Given the description of an element on the screen output the (x, y) to click on. 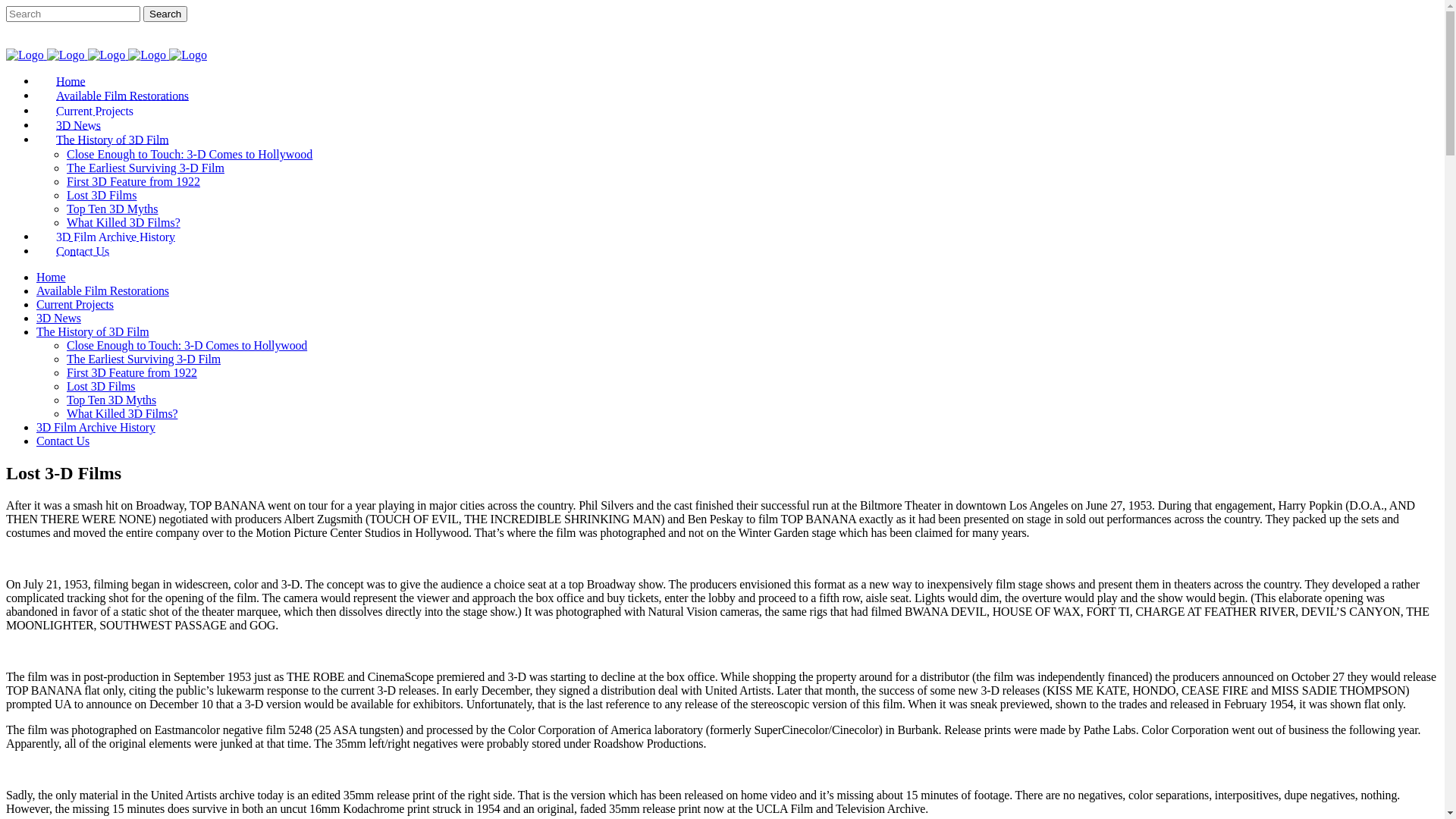
Current Projects Element type: text (94, 109)
Top Ten 3D Myths Element type: text (112, 208)
The Earliest Surviving 3-D Film Element type: text (145, 167)
Home Element type: text (70, 80)
The Earliest Surviving 3-D Film Element type: text (143, 358)
What Killed 3D Films? Element type: text (123, 222)
First 3D Feature from 1922 Element type: text (133, 181)
3D Film Archive History Element type: text (115, 235)
3D News Element type: text (78, 124)
Home Element type: text (50, 276)
Available Film Restorations Element type: text (102, 290)
Close Enough to Touch: 3-D Comes to Hollywood Element type: text (186, 344)
3D Film Archive History Element type: text (95, 426)
Search Element type: text (165, 13)
What Killed 3D Films? Element type: text (121, 413)
Available Film Restorations Element type: text (122, 94)
Close Enough to Touch: 3-D Comes to Hollywood Element type: text (189, 153)
Contact Us Element type: text (82, 250)
Current Projects Element type: text (74, 304)
Lost 3D Films Element type: text (100, 385)
The History of 3D Film Element type: text (92, 331)
Top Ten 3D Myths Element type: text (111, 399)
Lost 3D Films Element type: text (101, 194)
First 3D Feature from 1922 Element type: text (131, 372)
The History of 3D Film Element type: text (112, 138)
3D News Element type: text (58, 317)
Contact Us Element type: text (62, 440)
